Given the description of an element on the screen output the (x, y) to click on. 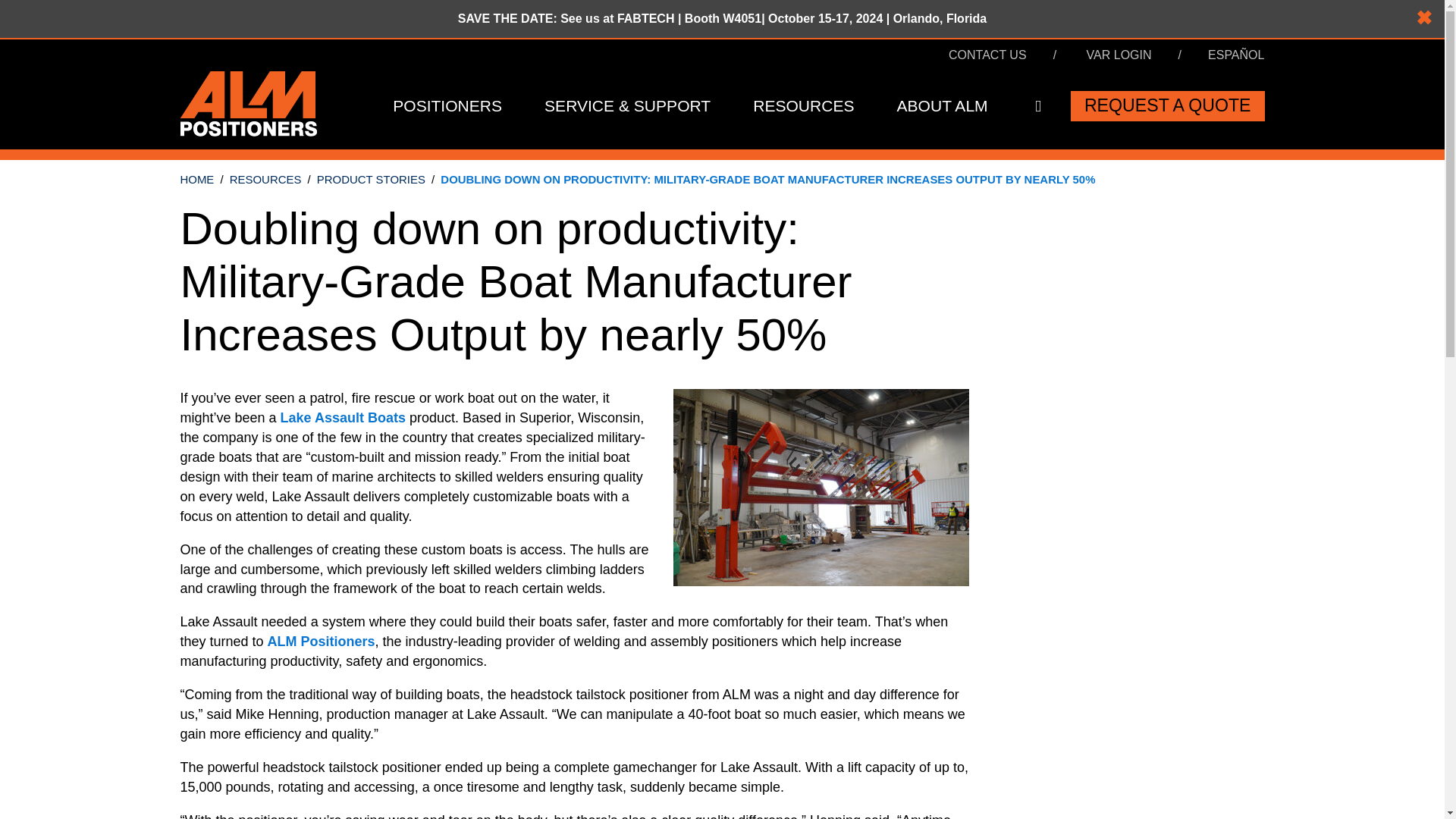
VAR LOGIN (1118, 54)
POSITIONERS (446, 106)
CONTACT US (987, 54)
RESOURCES (803, 106)
REQUEST A QUOTE (1167, 105)
ABOUT ALM (942, 106)
